Given the description of an element on the screen output the (x, y) to click on. 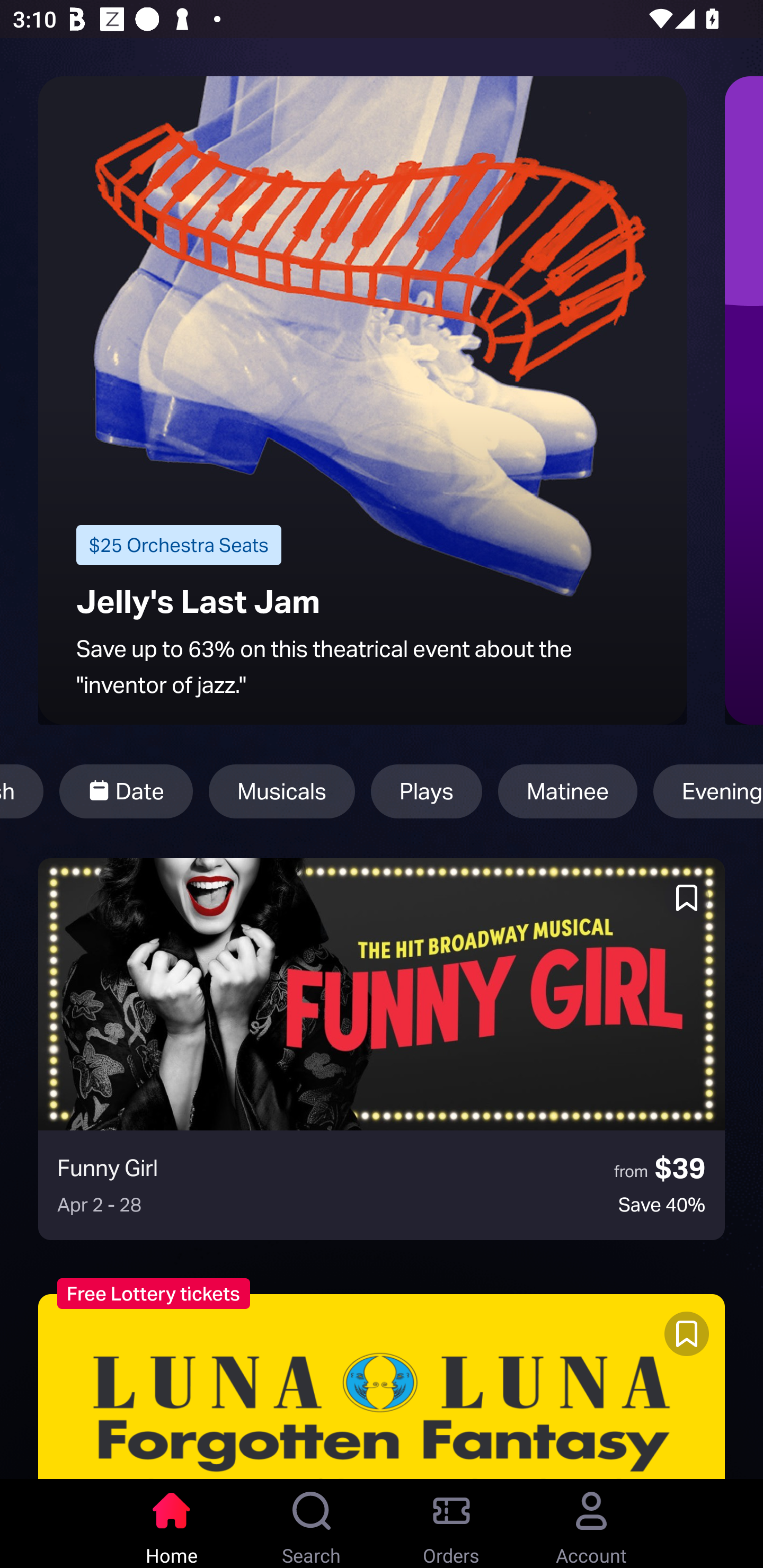
Date (126, 791)
Musicals (281, 791)
Plays (426, 791)
Matinee (567, 791)
Funny Girl from $39 Apr 2 - 28 Save 40% (381, 1048)
Search (311, 1523)
Orders (451, 1523)
Account (591, 1523)
